Given the description of an element on the screen output the (x, y) to click on. 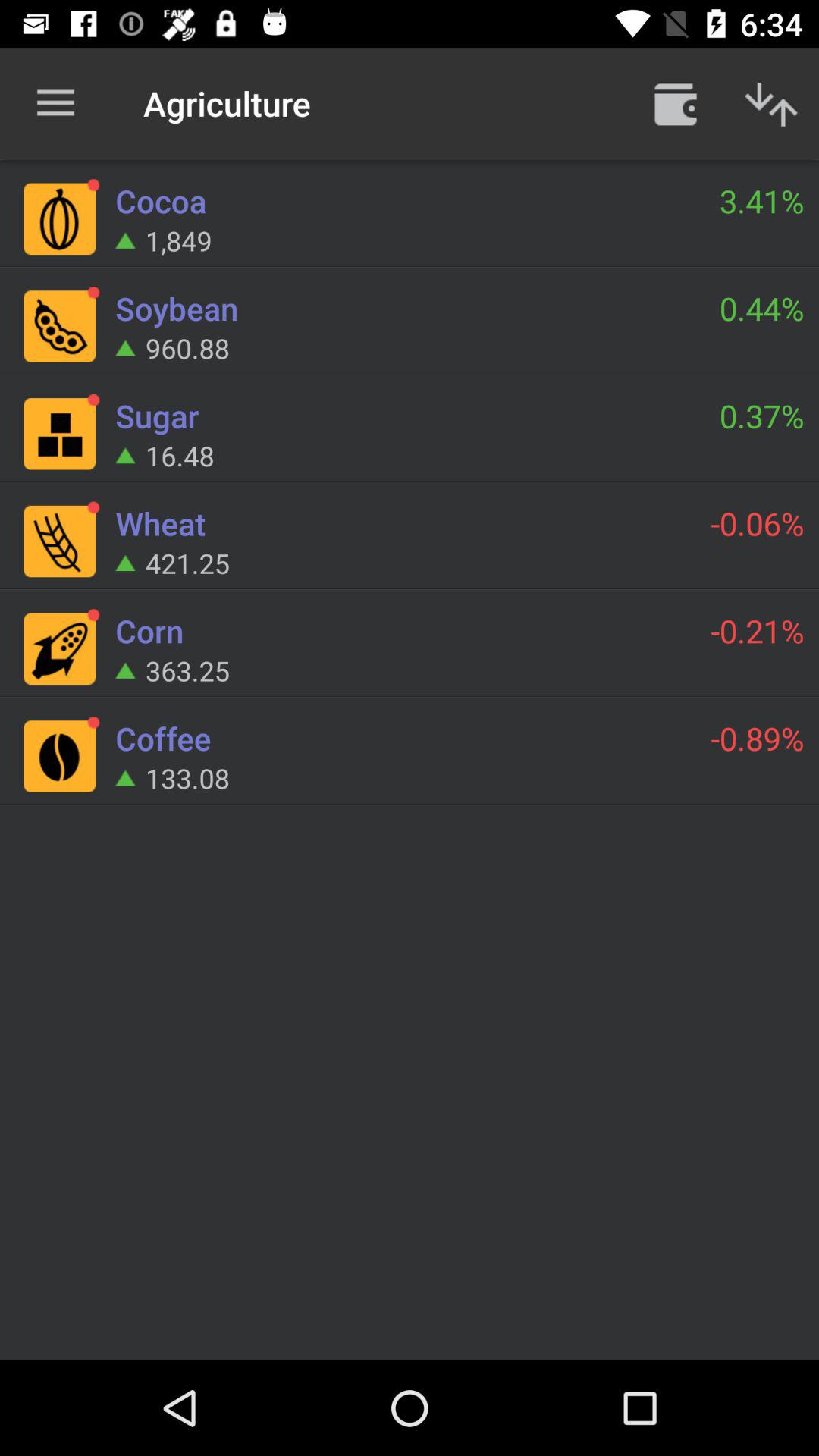
sort stocks (771, 103)
